Given the description of an element on the screen output the (x, y) to click on. 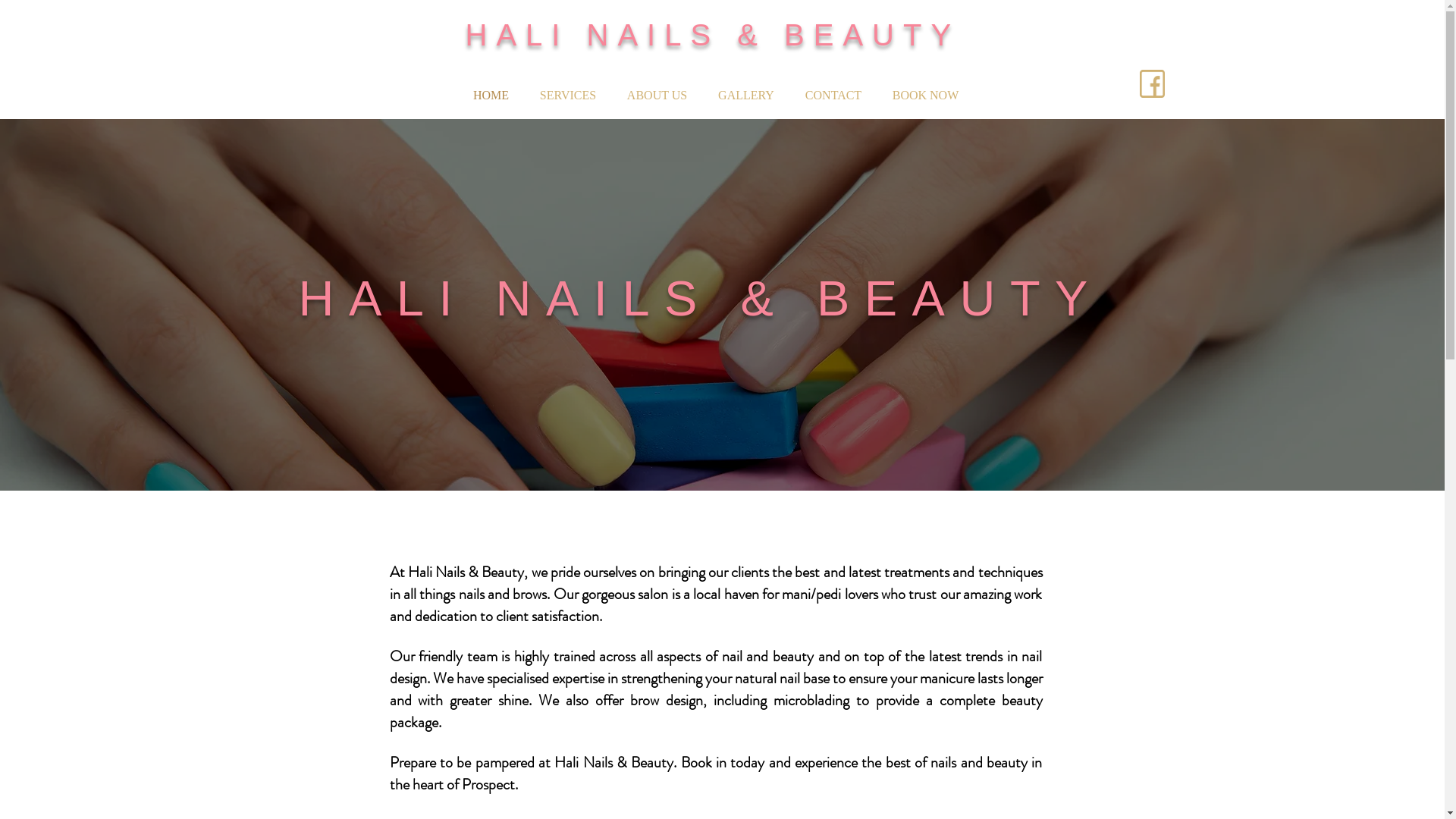
BOOK NOW Element type: text (924, 95)
HOME Element type: text (491, 95)
GALLERY Element type: text (745, 95)
ABOUT US Element type: text (656, 95)
CONTACT Element type: text (833, 95)
